Given the description of an element on the screen output the (x, y) to click on. 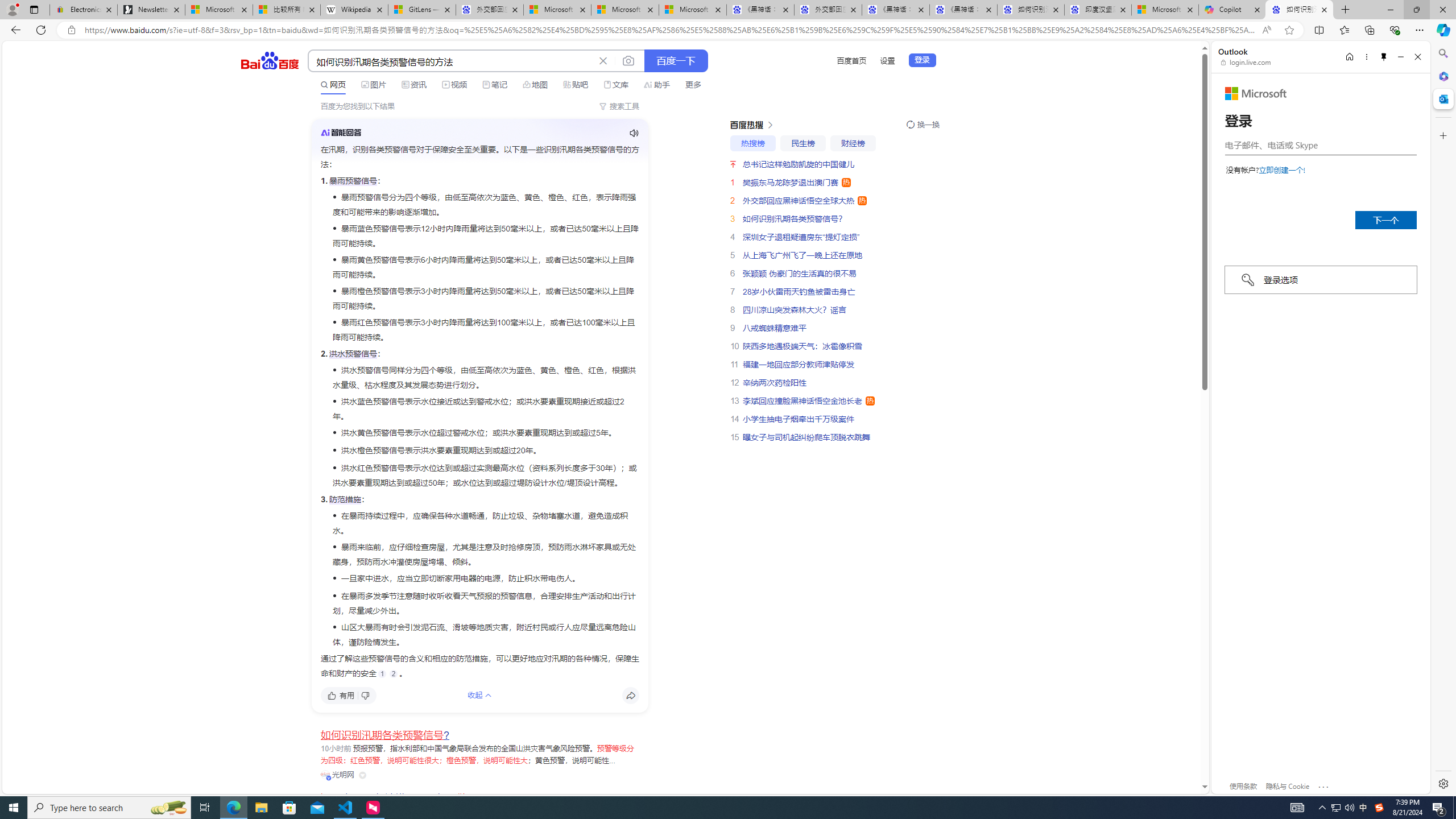
AutomationID: kw (451, 61)
login.live.com (1246, 61)
Class: vip-icon_kNmNt (328, 777)
Unpin side pane (1383, 56)
Address and search bar (669, 29)
